Given the description of an element on the screen output the (x, y) to click on. 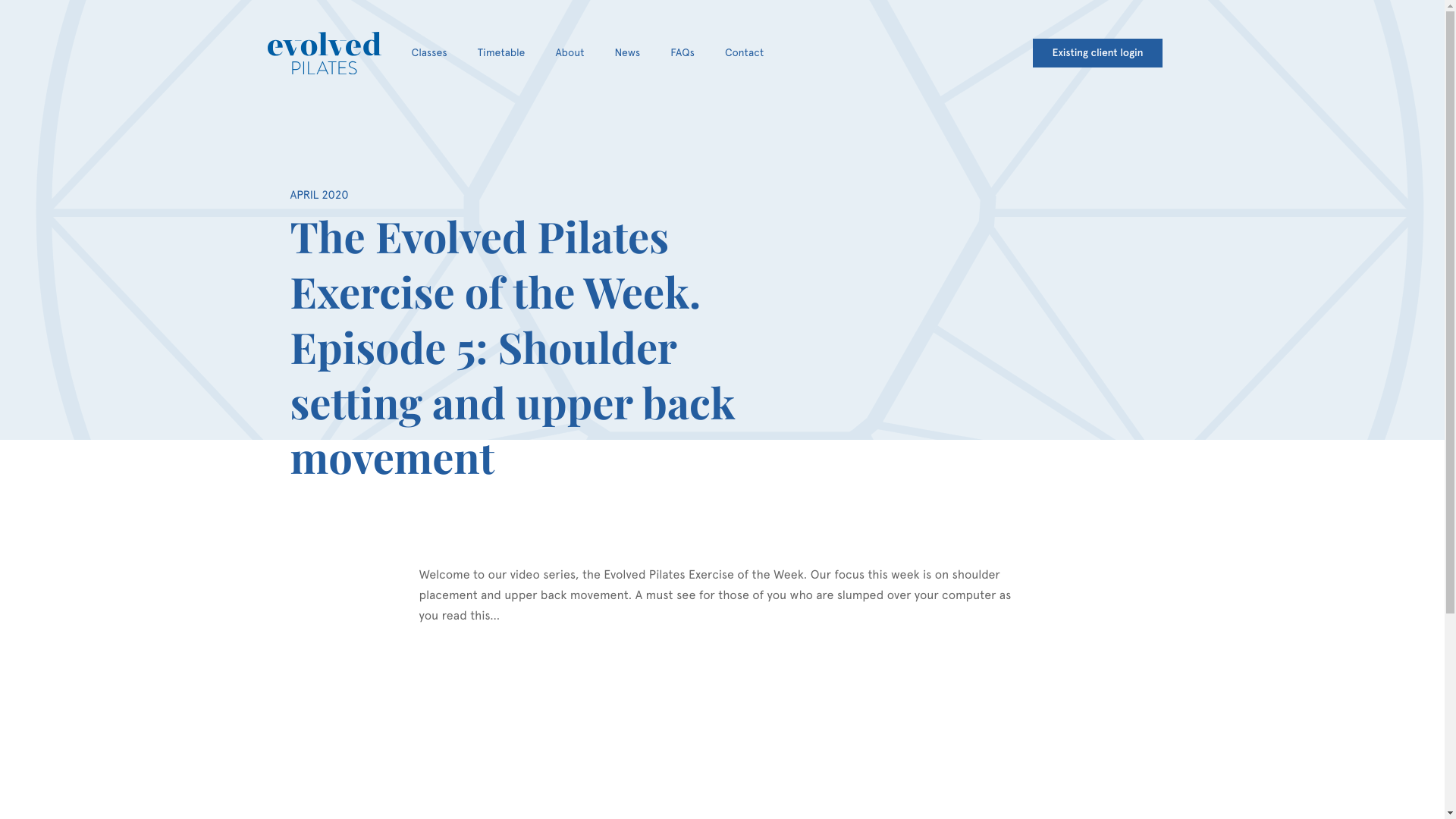
Evolved Pilates Element type: text (323, 52)
Classes Element type: text (428, 52)
Contact Element type: text (743, 52)
News Element type: text (627, 52)
FAQs Element type: text (682, 52)
Existing client login Element type: text (1096, 52)
Skip to content Element type: text (3, 3)
Timetable Element type: text (501, 52)
About Element type: text (569, 52)
